Given the description of an element on the screen output the (x, y) to click on. 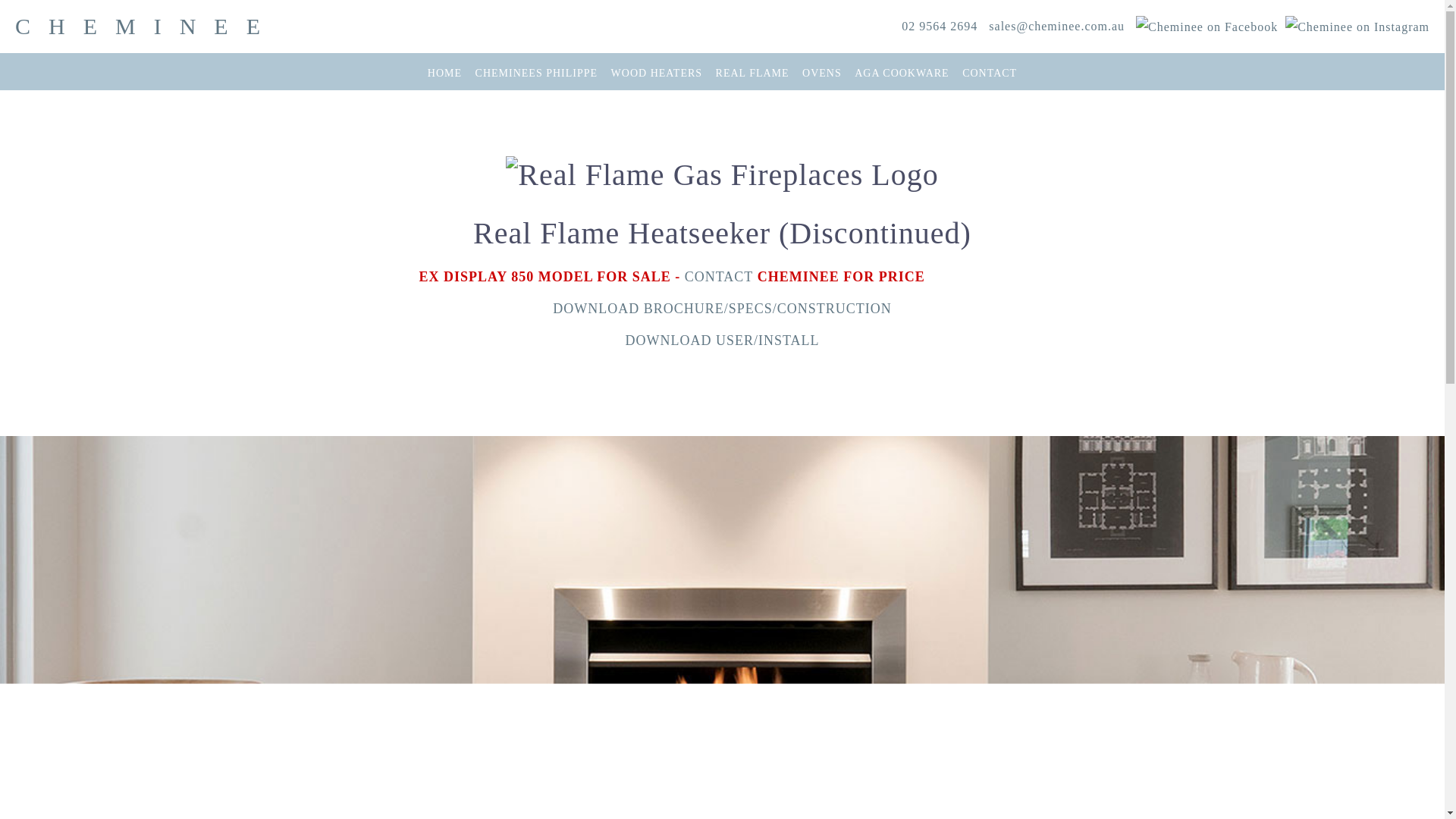
Cheminee home (146, 25)
HOME (444, 71)
02 9564 2694 (938, 25)
Contact Cheminee (1056, 25)
Cheminees Philippe Wood Fireplaces (536, 71)
WOOD HEATERS (657, 71)
Wood Heaters (657, 71)
CHEMINEES PHILIPPE (536, 71)
CHEMINEE (146, 25)
REAL FLAME (752, 71)
